Given the description of an element on the screen output the (x, y) to click on. 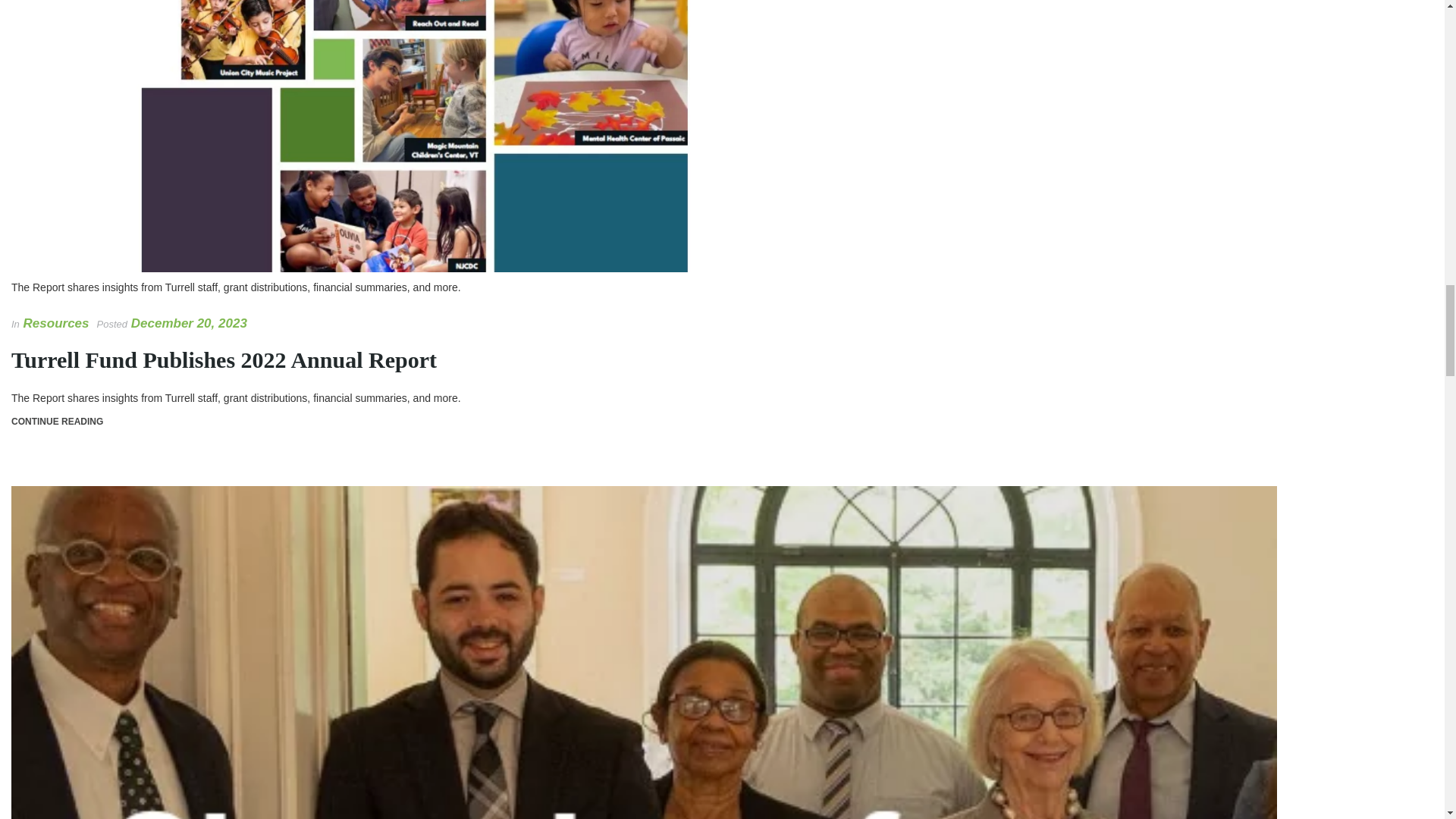
Resources (55, 323)
